Given the description of an element on the screen output the (x, y) to click on. 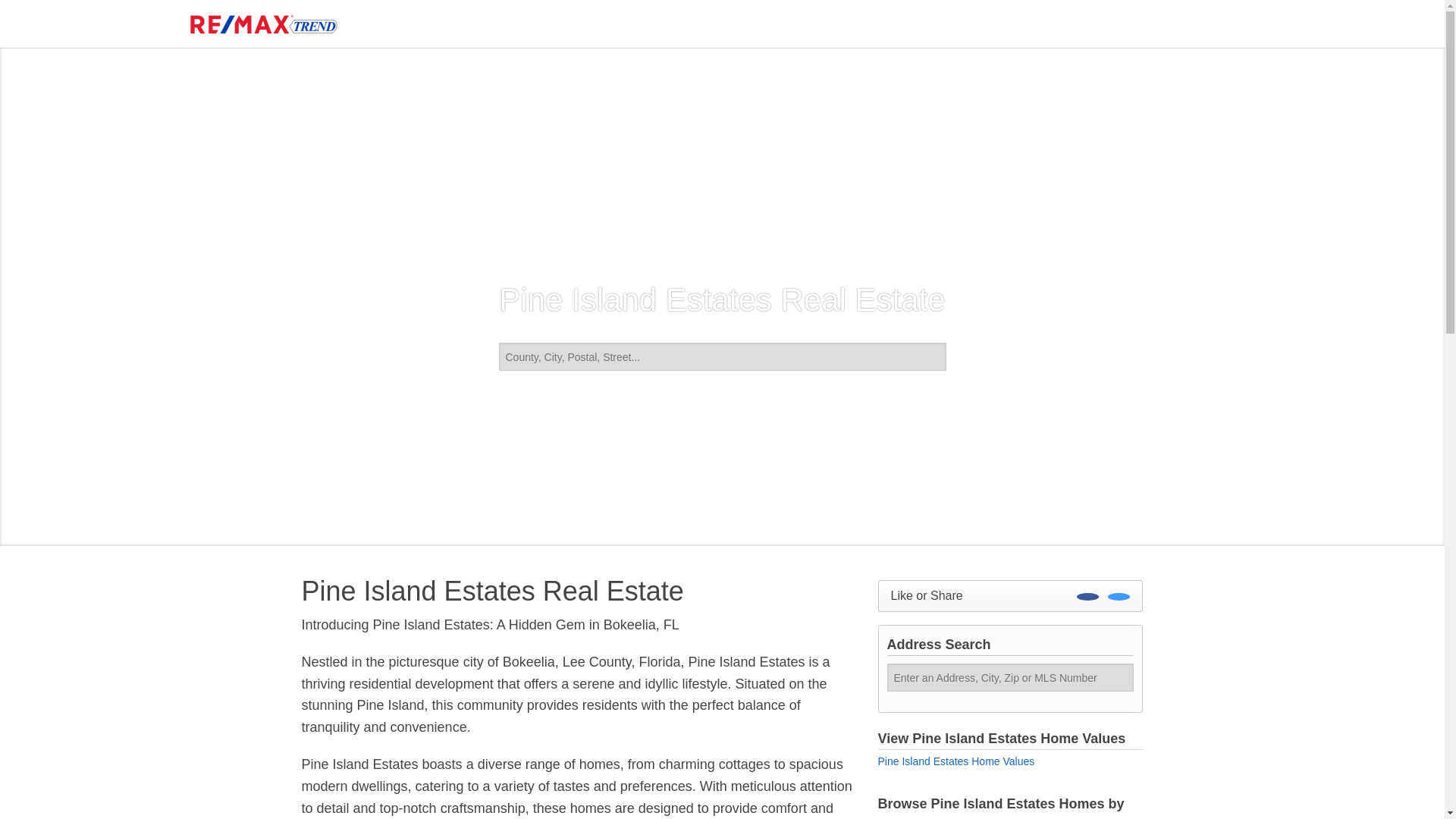
Pine Island Estates Real Estate (578, 591)
Like or Share (1009, 595)
Pine Island Estates Home Values (956, 761)
